Given the description of an element on the screen output the (x, y) to click on. 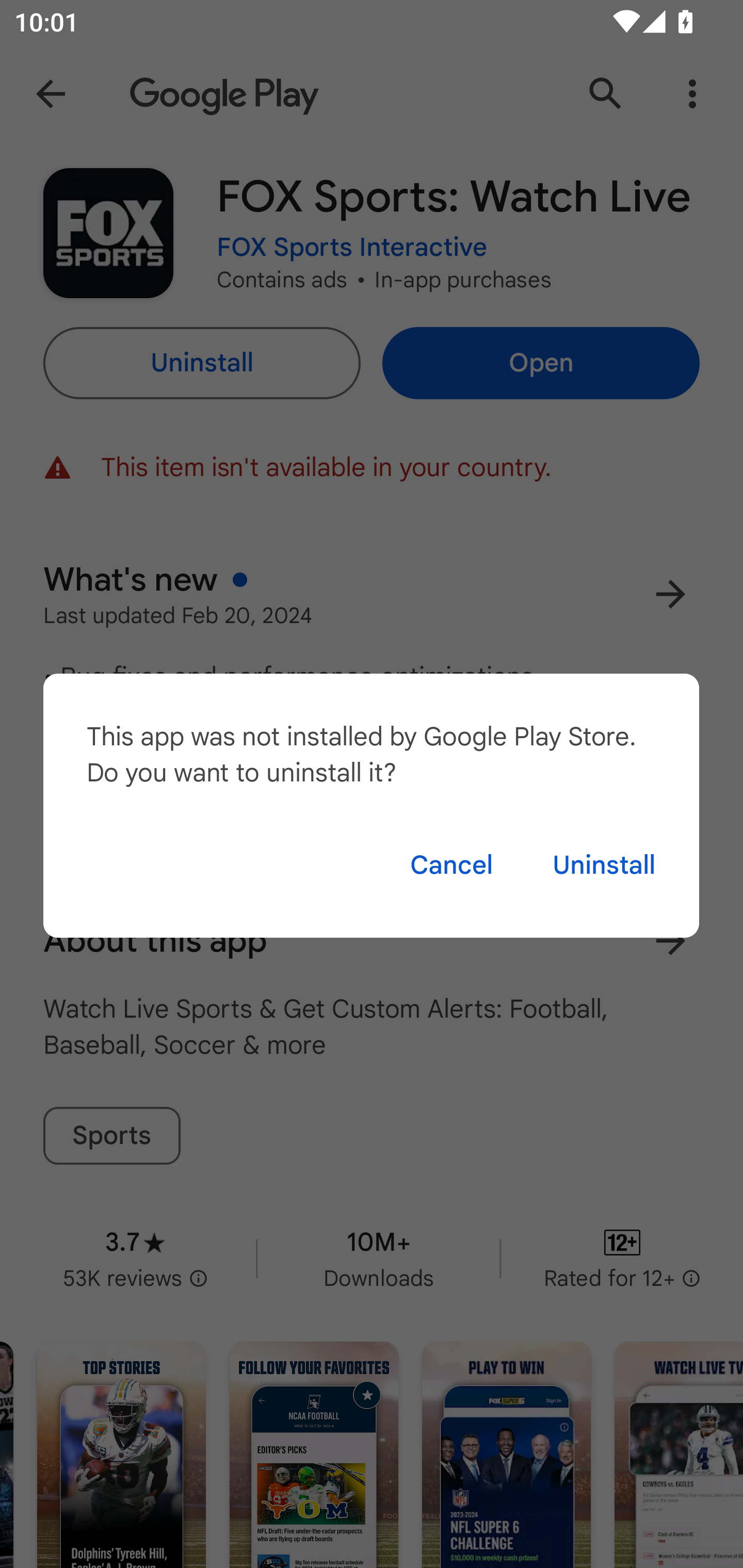
Cancel (450, 865)
Uninstall (604, 865)
